Given the description of an element on the screen output the (x, y) to click on. 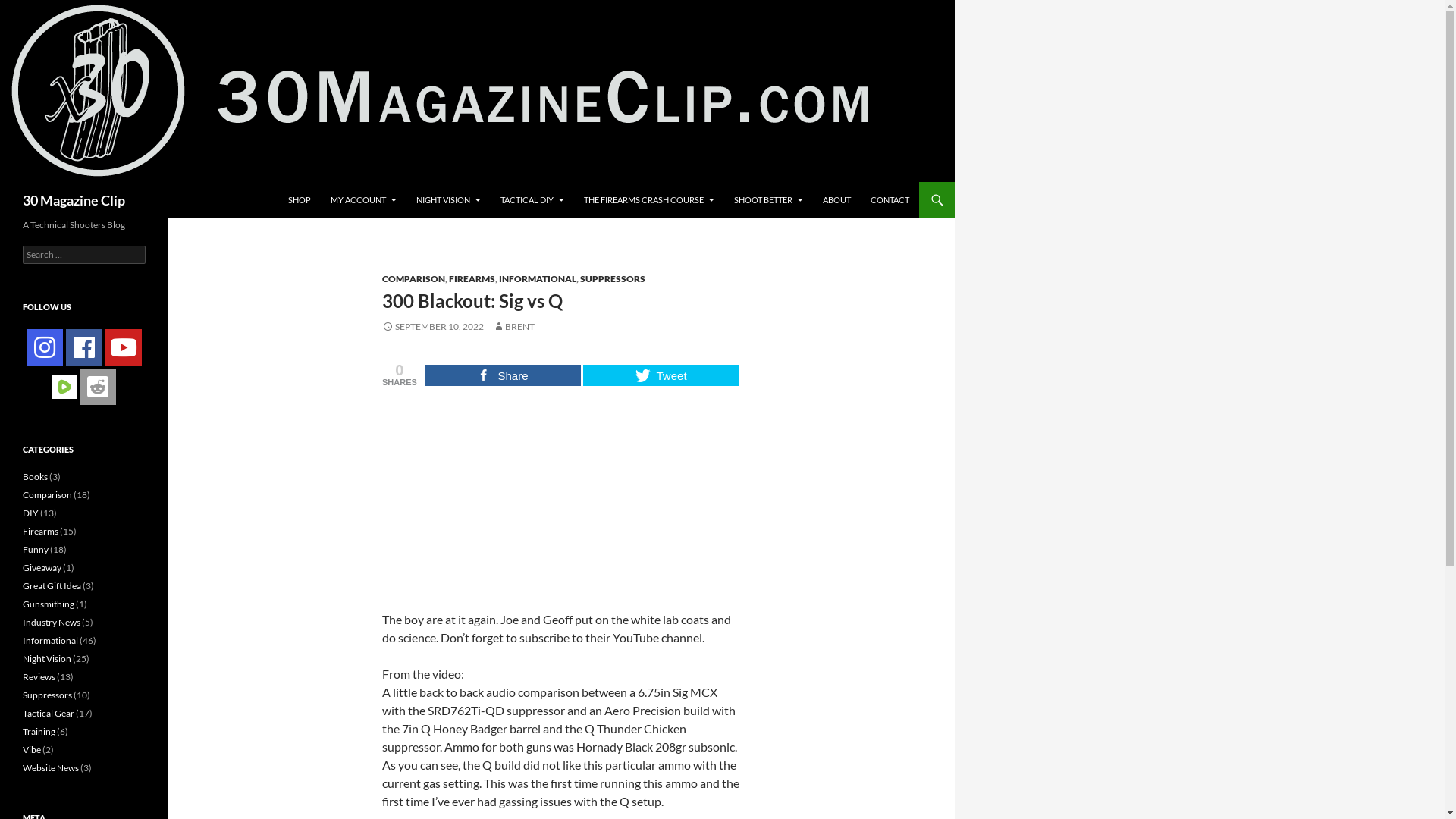
Great Gift Idea Element type: text (51, 585)
Funny Element type: text (35, 549)
Reviews Element type: text (38, 676)
Gunsmithing Element type: text (48, 603)
Search Element type: text (29, 9)
30 Magazine Clip Element type: text (73, 200)
SUPPRESSORS Element type: text (612, 278)
Books Element type: text (34, 476)
BRENT Element type: text (513, 326)
Instagram Element type: hover (44, 347)
THE FIREARMS CRASH COURSE Element type: text (648, 200)
Giveaway Element type: text (41, 567)
youtube Element type: hover (123, 347)
CONTACT Element type: text (889, 200)
TACTICAL DIY Element type: text (532, 200)
reddit Element type: hover (97, 386)
Suppressors Element type: text (47, 694)
rumble Element type: hover (64, 386)
Share Element type: text (502, 374)
FIREARMS Element type: text (471, 278)
COMPARISON Element type: text (413, 278)
Instagram Element type: hover (44, 347)
Night Vision Element type: text (46, 658)
Training Element type: text (38, 731)
ABOUT Element type: text (836, 200)
Comparison Element type: text (47, 494)
Tweet Element type: text (661, 374)
Website News Element type: text (50, 767)
Facebook Element type: hover (83, 347)
SKIP TO CONTENT Element type: text (287, 181)
300 Blackout: Sig vs  Q Element type: hover (561, 496)
Industry News Element type: text (51, 621)
INFORMATIONAL Element type: text (537, 278)
Vibe Element type: text (31, 749)
rumble Element type: hover (64, 385)
SHOOT BETTER Element type: text (768, 200)
Search Element type: text (3, 181)
youtube Element type: hover (123, 347)
Tactical Gear Element type: text (48, 712)
reddit Element type: hover (97, 386)
DIY Element type: text (30, 512)
SEPTEMBER 10, 2022 Element type: text (432, 326)
Facebook Element type: hover (83, 347)
MY ACCOUNT Element type: text (363, 200)
Firearms Element type: text (40, 530)
NIGHT VISION Element type: text (448, 200)
SHOP Element type: text (299, 200)
Informational Element type: text (50, 640)
